Given the description of an element on the screen output the (x, y) to click on. 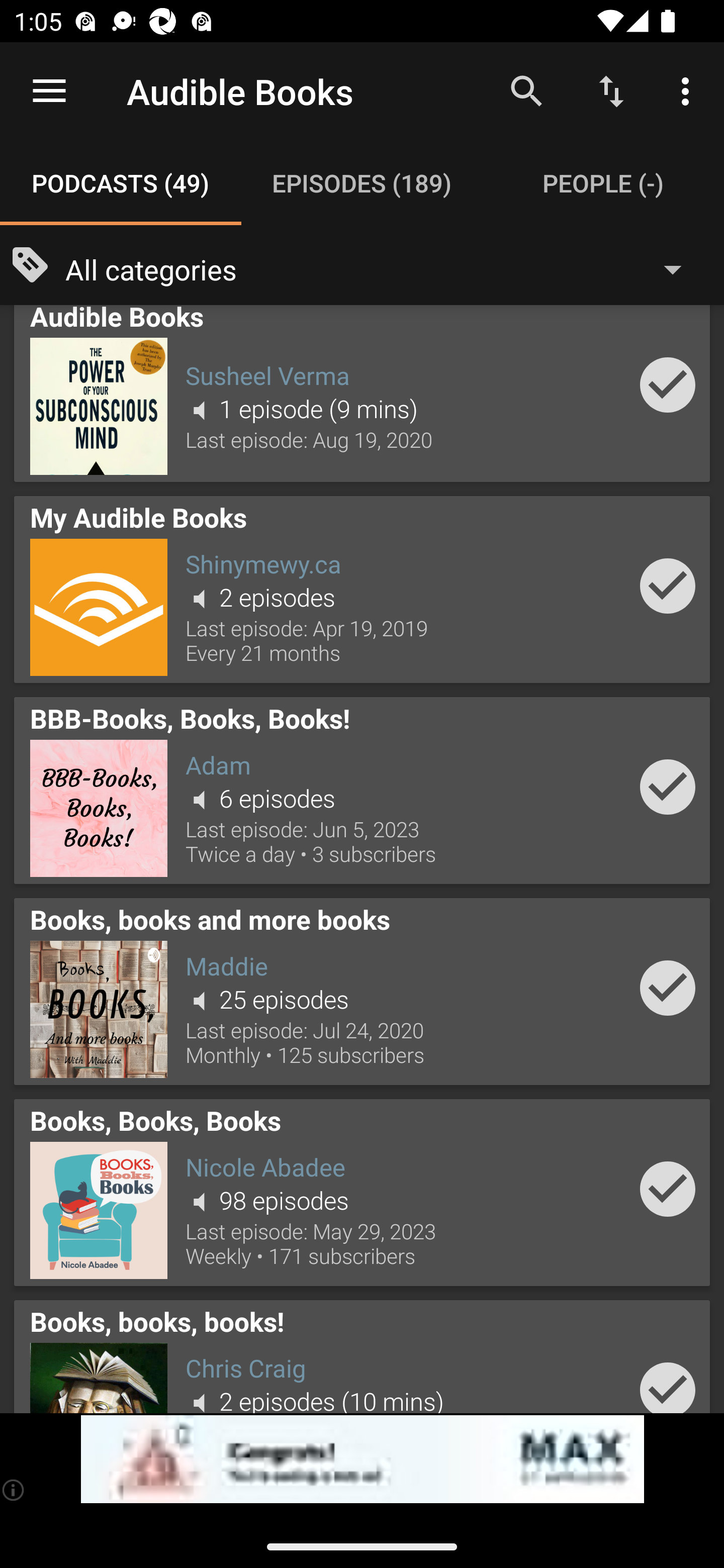
Open navigation sidebar (49, 91)
Search (526, 90)
Sort (611, 90)
More options (688, 90)
Episodes (189) EPISODES (189) (361, 183)
People (-) PEOPLE (-) (603, 183)
All categories (383, 268)
Add (667, 384)
Add (667, 586)
Add (667, 786)
Add (667, 987)
Add (667, 1188)
Add (667, 1380)
app-monetization (362, 1459)
(i) (14, 1489)
